Given the description of an element on the screen output the (x, y) to click on. 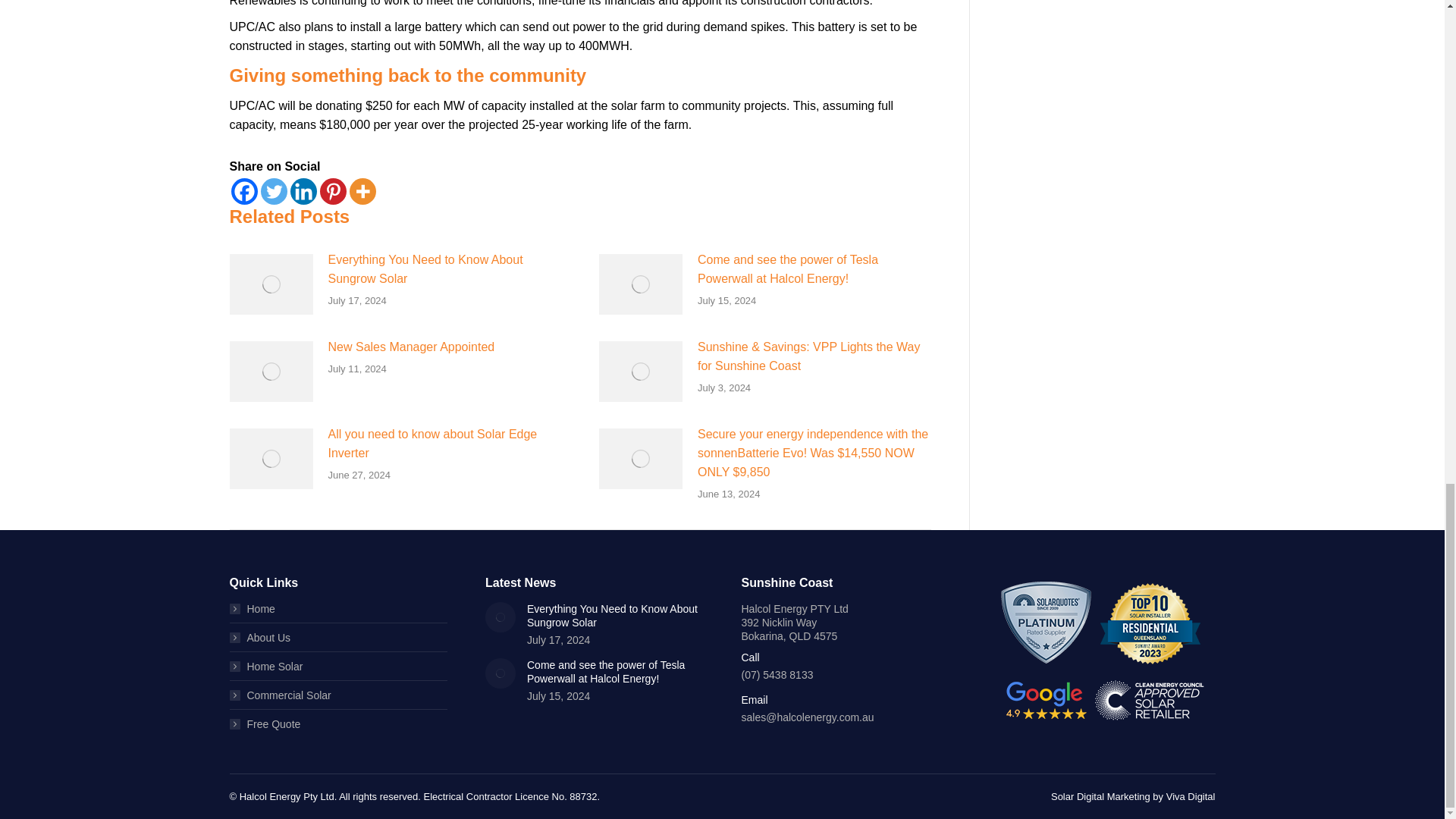
Facebook (243, 191)
Pinterest (333, 191)
More (362, 191)
Twitter (273, 191)
Linkedin (302, 191)
